Given the description of an element on the screen output the (x, y) to click on. 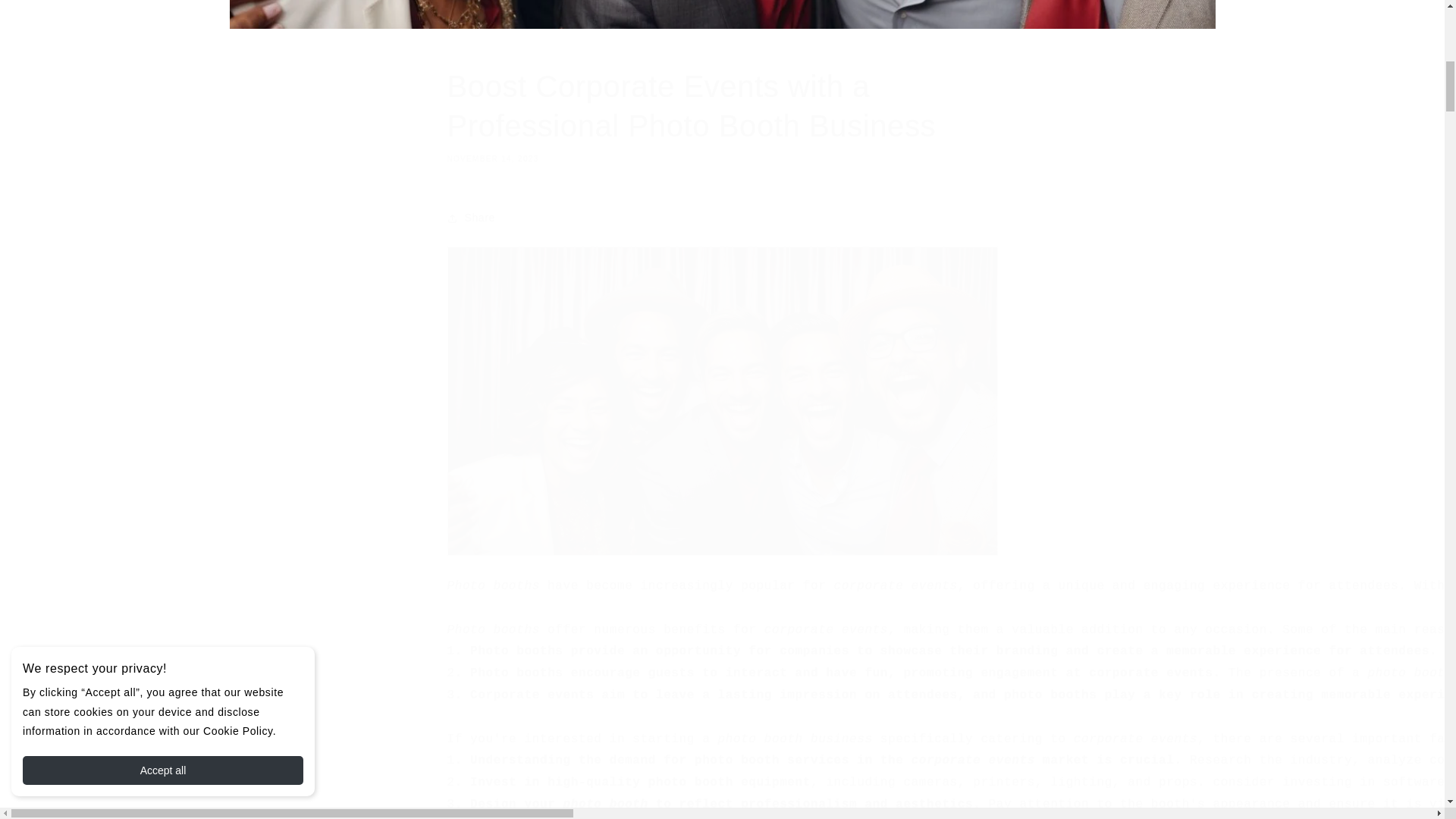
Share (721, 218)
